Given the description of an element on the screen output the (x, y) to click on. 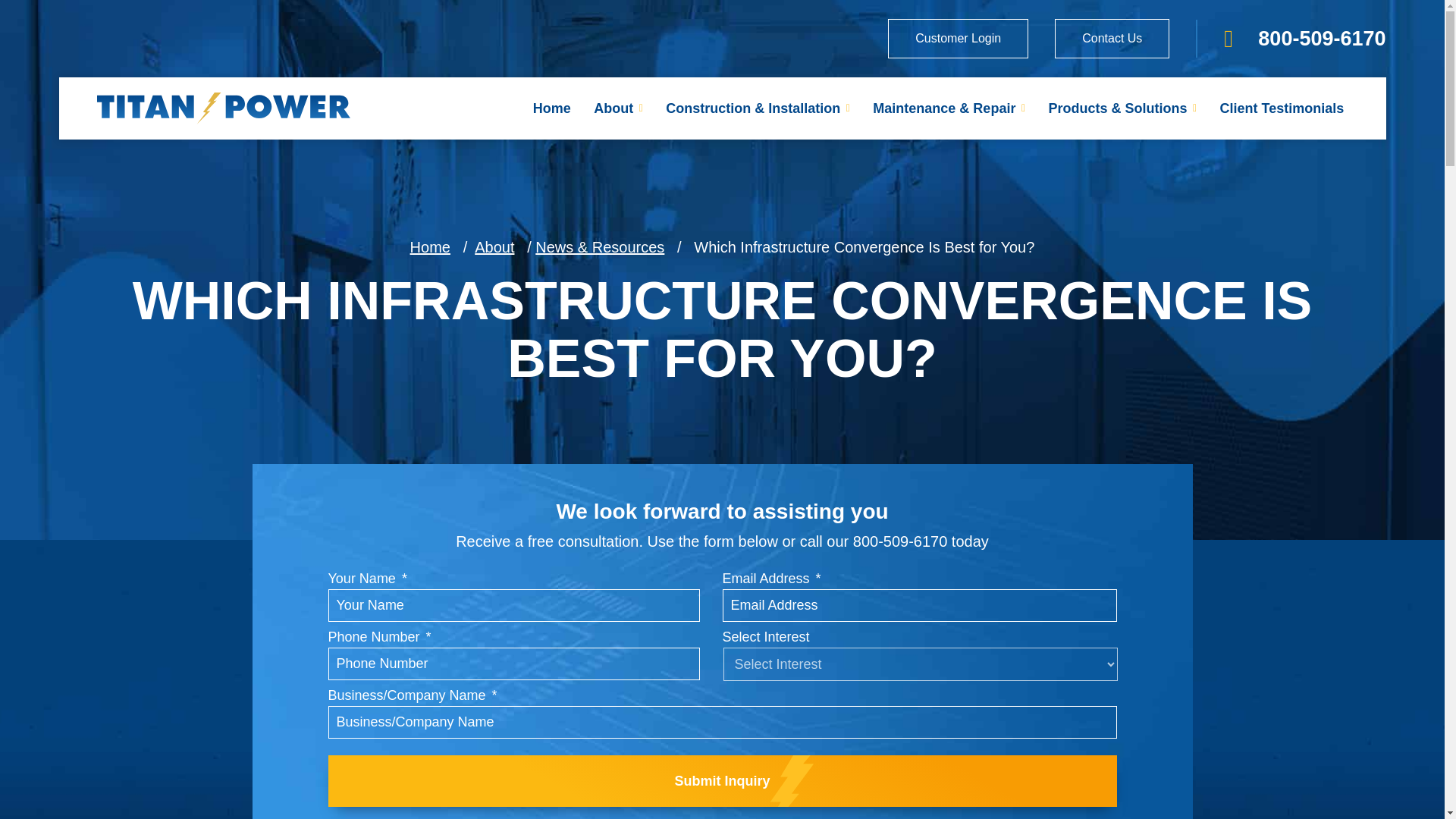
Submit Inquiry (721, 780)
About (617, 4)
Client Testimonials (1281, 106)
Home (551, 0)
